Given the description of an element on the screen output the (x, y) to click on. 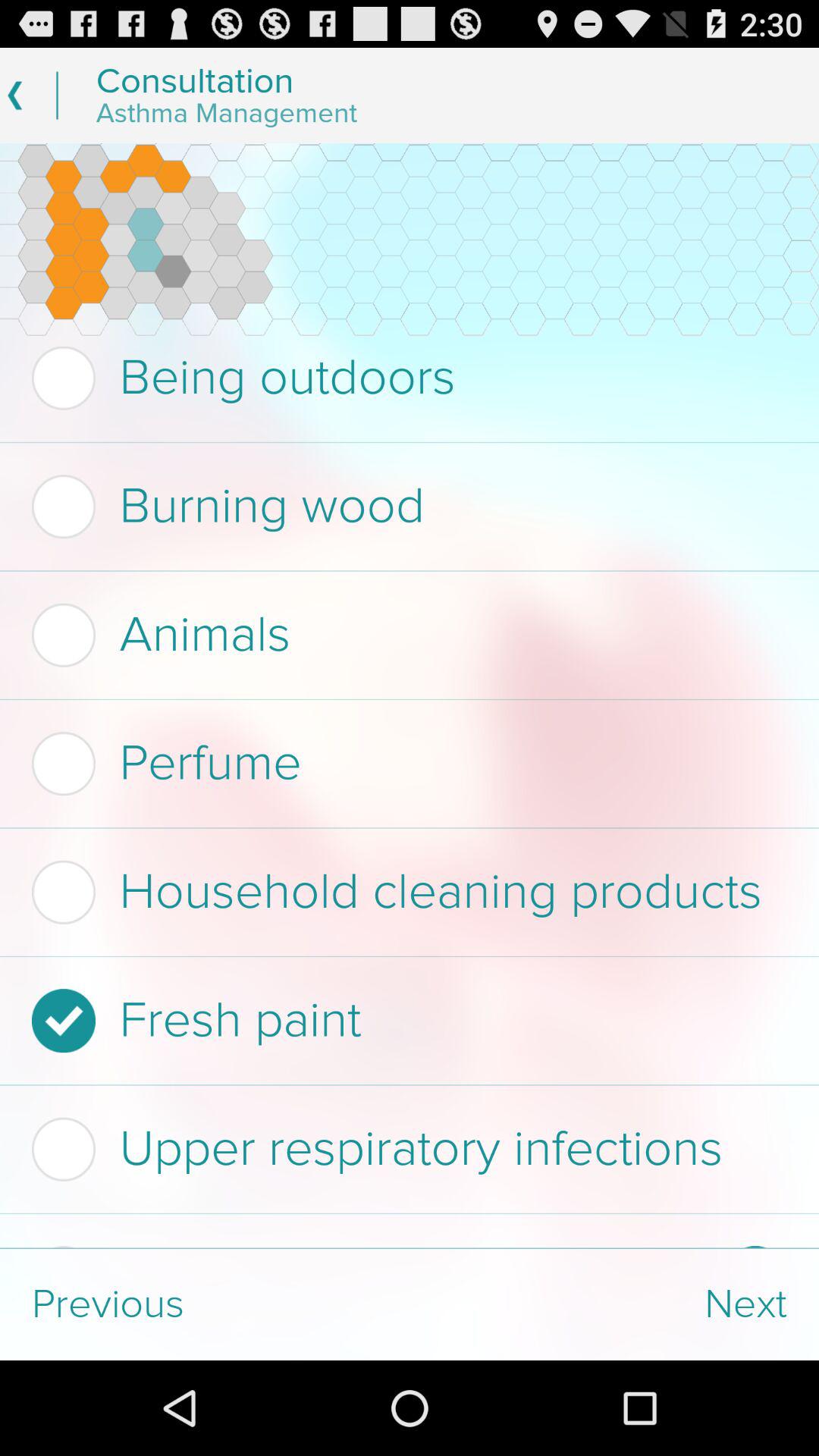
press the checkbox to the right of the sulfites in food checkbox (755, 1246)
